Given the description of an element on the screen output the (x, y) to click on. 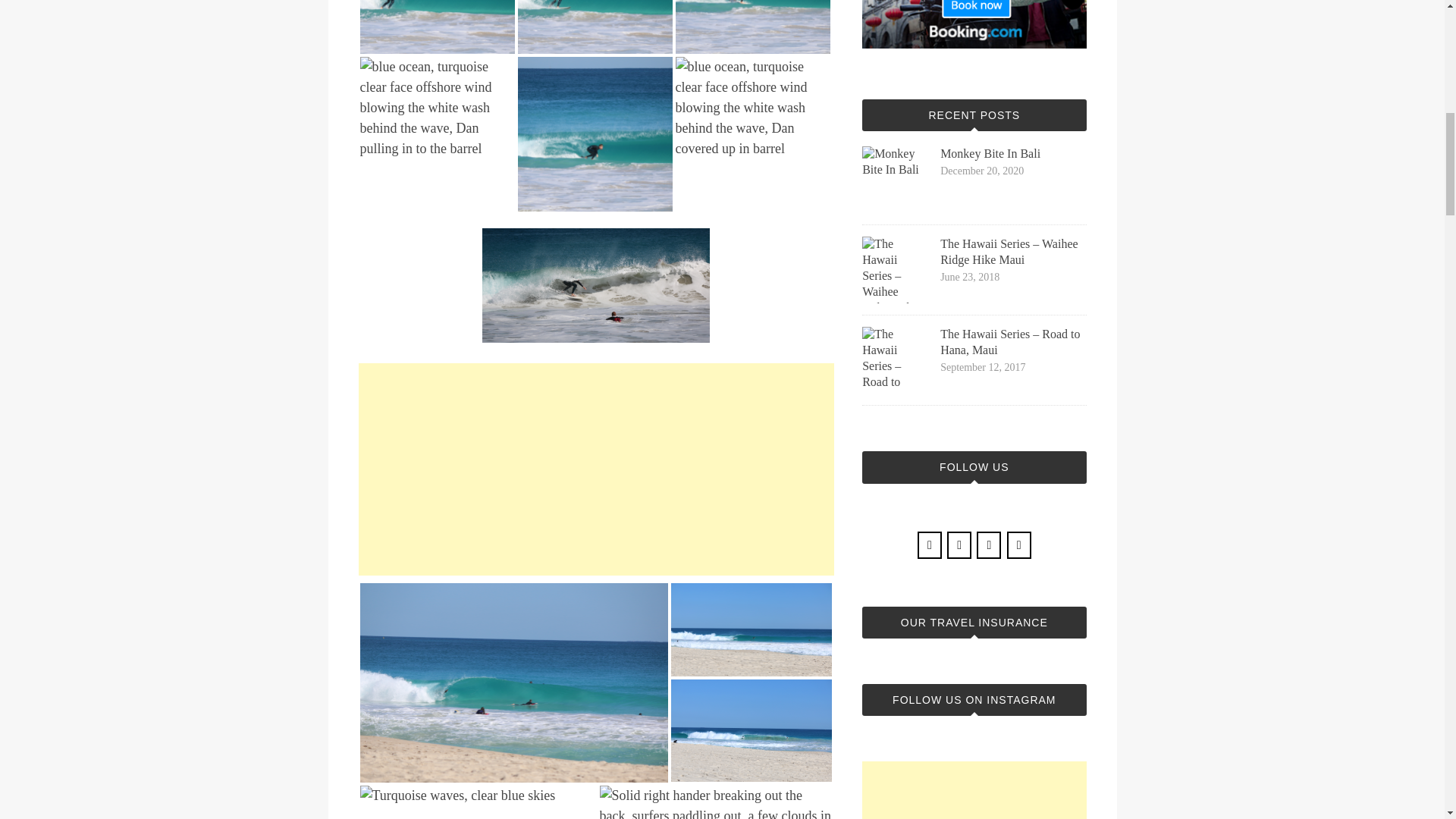
Surfing Perth, Sun Surf Soul (750, 730)
Surfing Perth, Sun Surf Soul (436, 27)
Surfing Perth, Sun Surf Soul (752, 107)
Surfing Perth, Sun Surf Soul (512, 682)
Surfing Perth, Sun Surf Soul (436, 107)
Surfing Perth, Sun Surf Soul (750, 629)
Surfing Perth, Sun Surf Soul (593, 133)
Surfing Perth, Sun Surf Soul (752, 27)
Surfing Perth, Sun Surf Soul (593, 27)
